Given the description of an element on the screen output the (x, y) to click on. 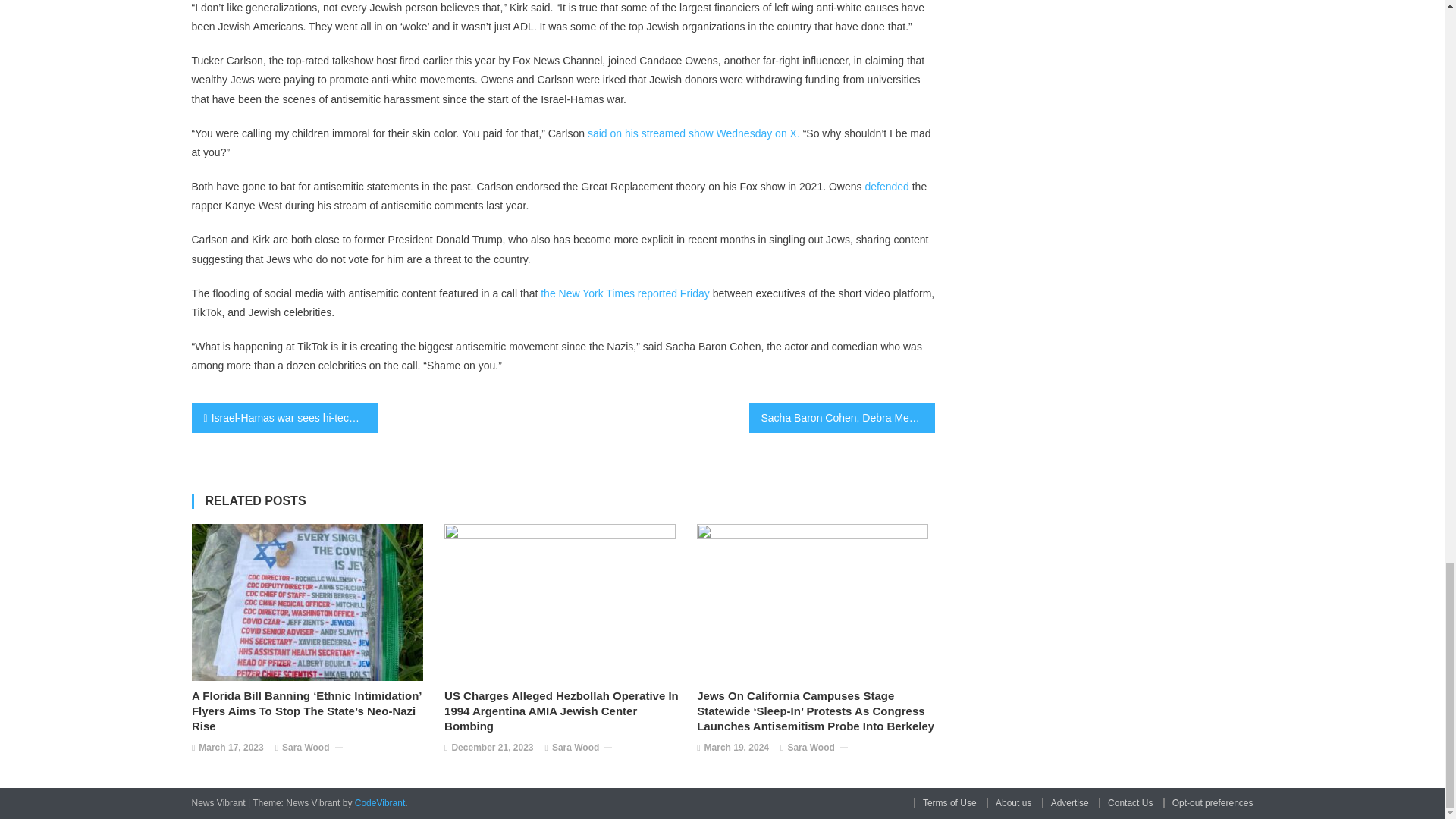
the New York Times reported Friday (625, 293)
Israel-Hamas war sees hi-tech, agriculture sectors struggle (283, 417)
said on his streamed show Wednesday on X. (693, 133)
defended (886, 186)
